Given the description of an element on the screen output the (x, y) to click on. 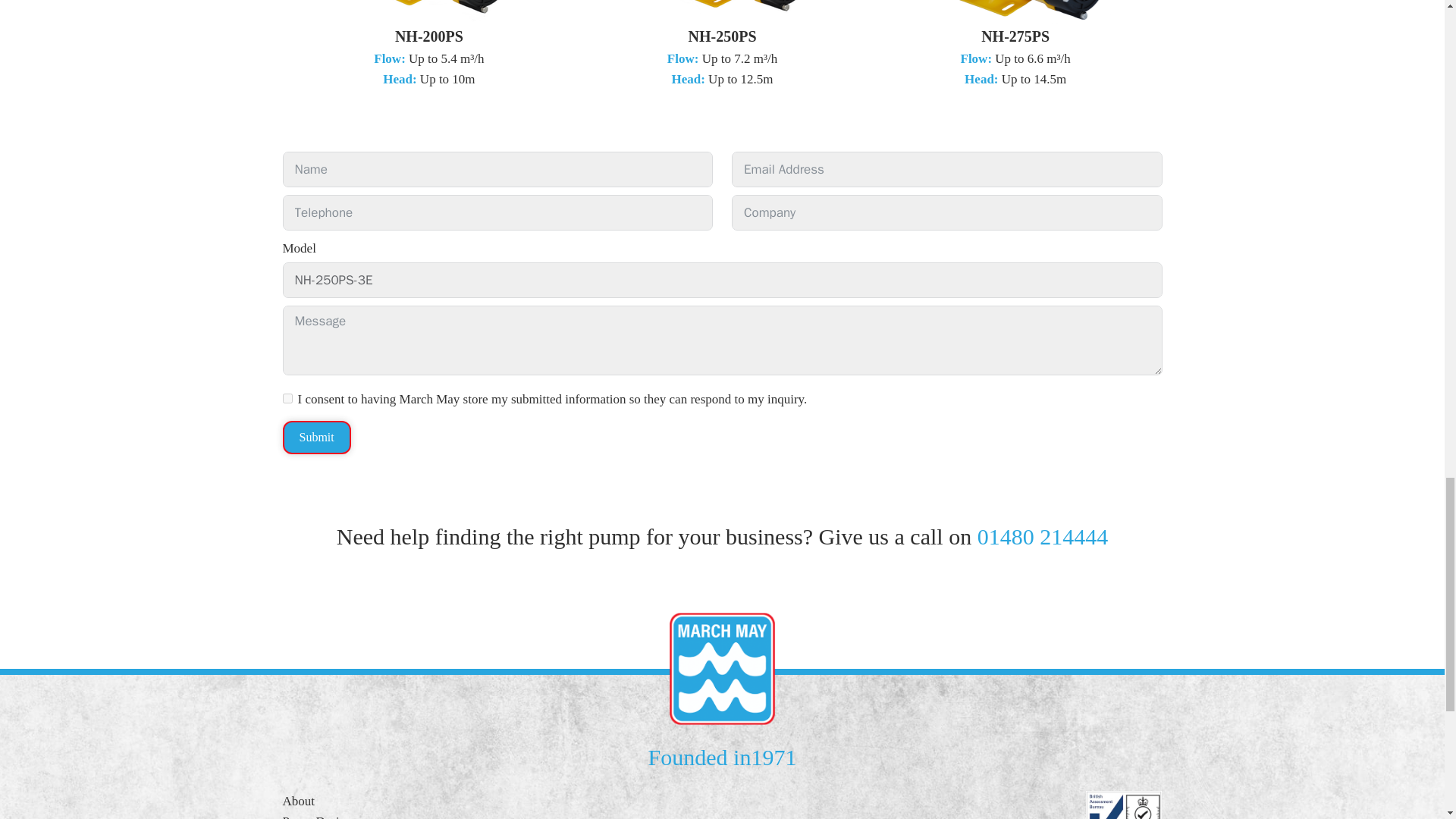
on (287, 398)
NH-250PS-3E (721, 280)
